Given the description of an element on the screen output the (x, y) to click on. 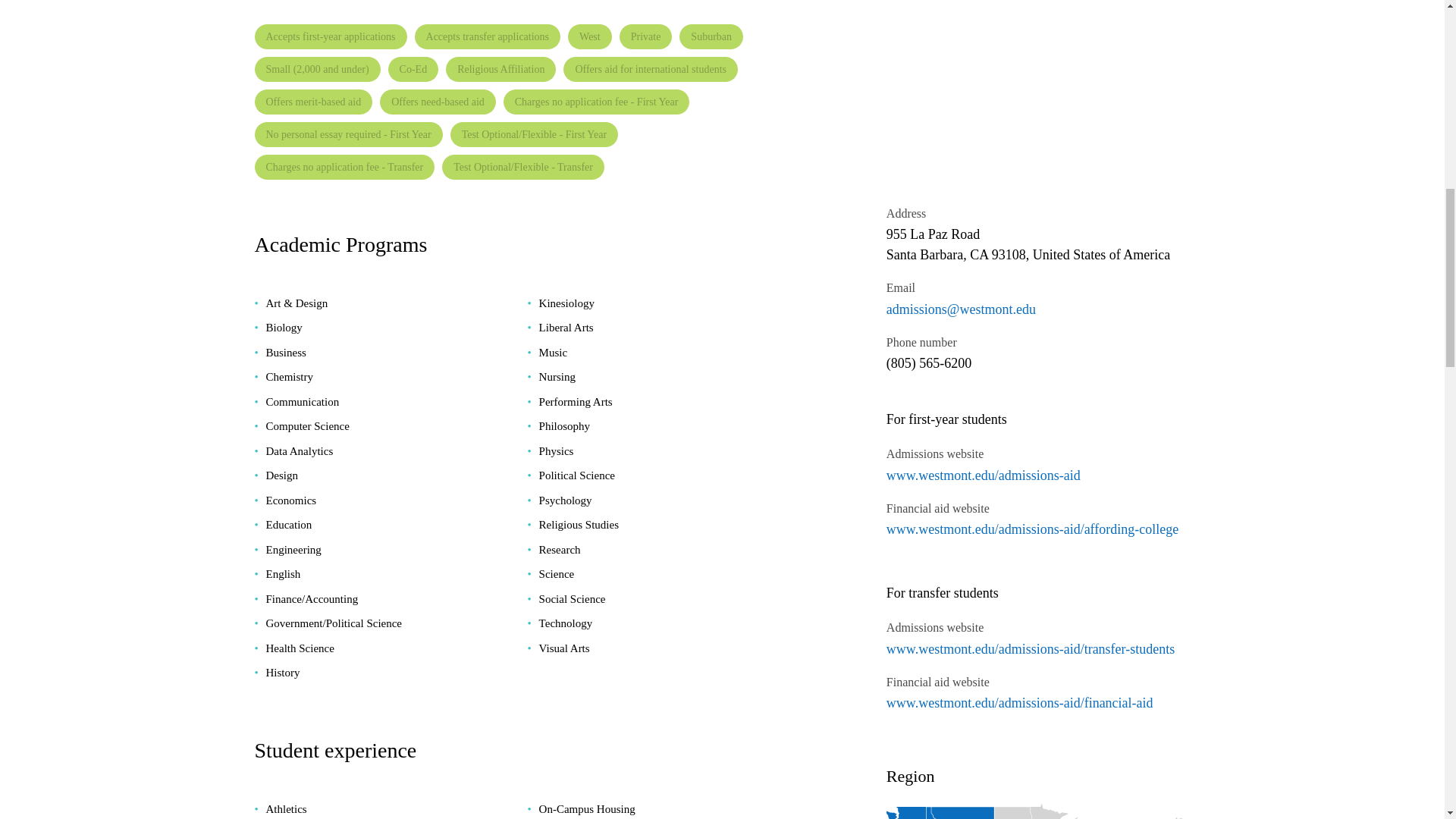
Accepts first-year applications (330, 36)
Co-Ed (413, 68)
Offers merit-based aid (313, 101)
Private (646, 36)
West (589, 36)
Accepts transfer applications (487, 36)
Offers need-based aid (438, 101)
Offers aid for international students (650, 68)
Suburban (710, 36)
Religious Affiliation (500, 68)
Charges no application fee - First Year (596, 101)
No personal essay required - First Year (348, 134)
